Given the description of an element on the screen output the (x, y) to click on. 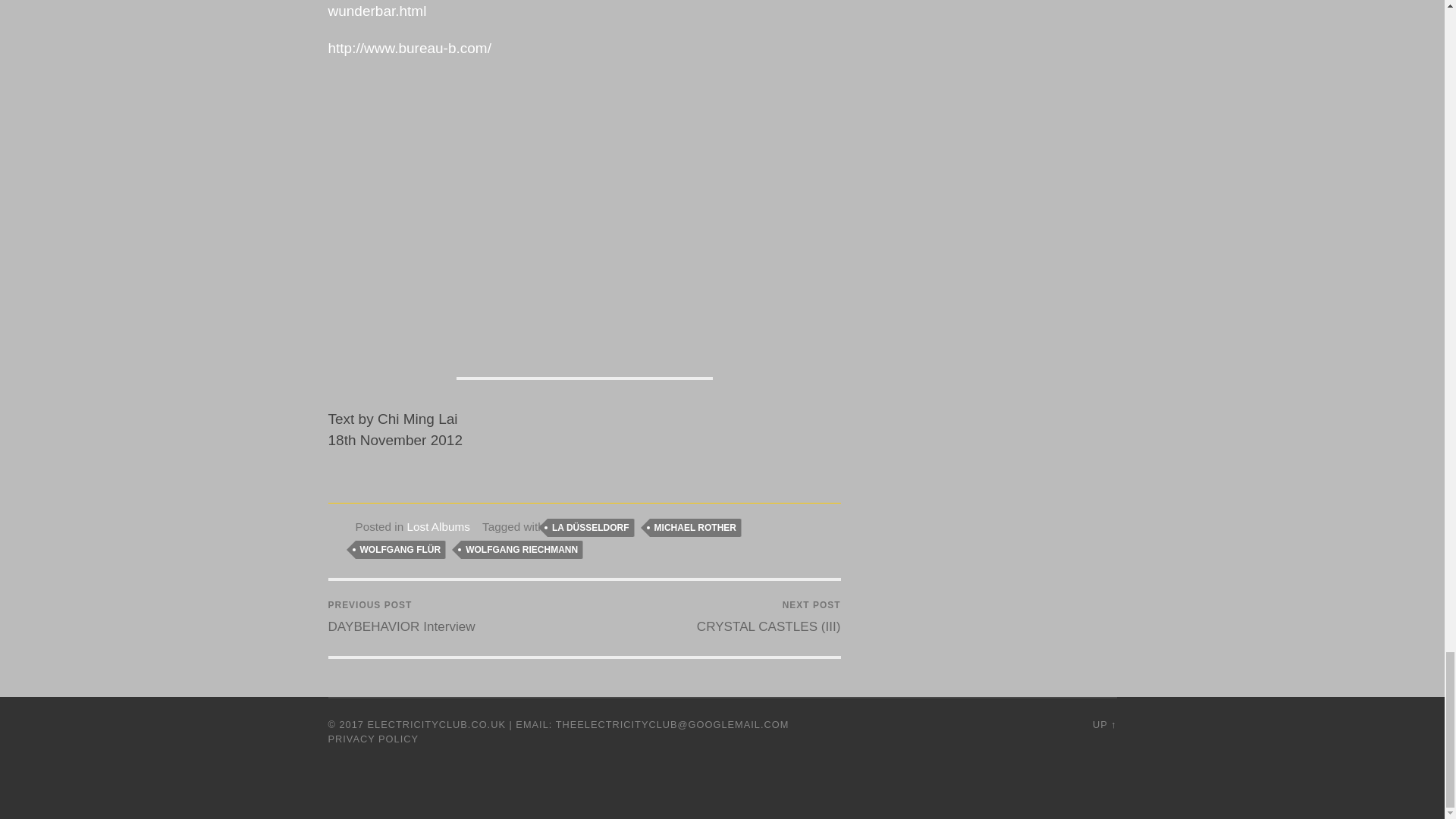
ELECTRICITYCLUB.CO.UK (436, 724)
To the top (1104, 724)
Previous post: DAYBEHAVIOR Interview (400, 617)
